Given the description of an element on the screen output the (x, y) to click on. 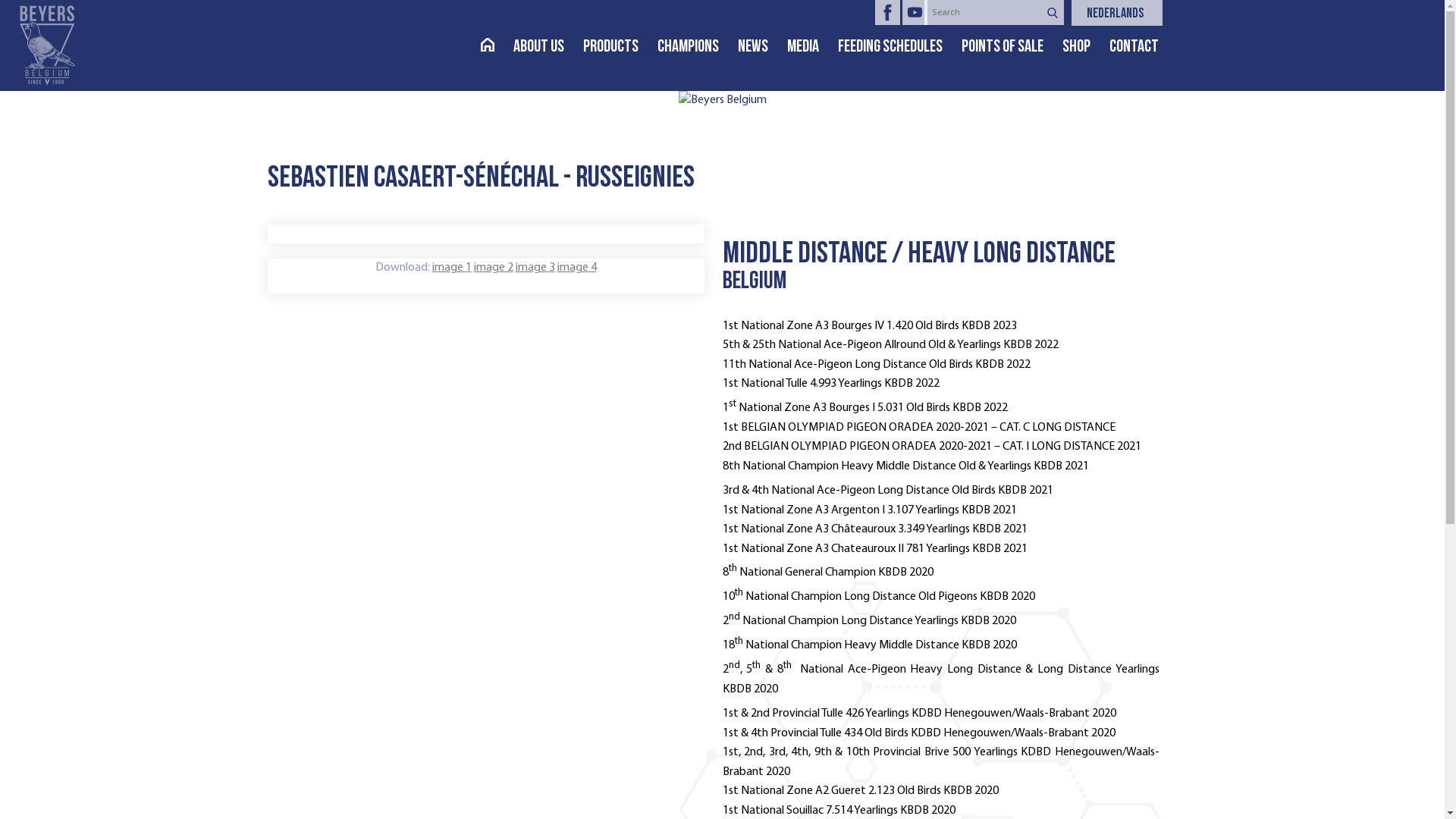
FEEDING SCHEDULES Element type: text (898, 47)
CONTACT Element type: text (1142, 47)
SHOP Element type: text (1084, 47)
image 1 Element type: text (451, 267)
image 2 Element type: text (492, 267)
POINTS OF SALE Element type: text (1011, 47)
image 3 Element type: text (535, 267)
NEDERLANDS Element type: text (1123, 14)
ABOUT US Element type: text (547, 47)
NEWS Element type: text (761, 47)
CHAMPIONS Element type: text (696, 47)
PRODUCTS Element type: text (619, 47)
image 4 Element type: text (576, 267)
MEDIA Element type: text (812, 47)
